Given the description of an element on the screen output the (x, y) to click on. 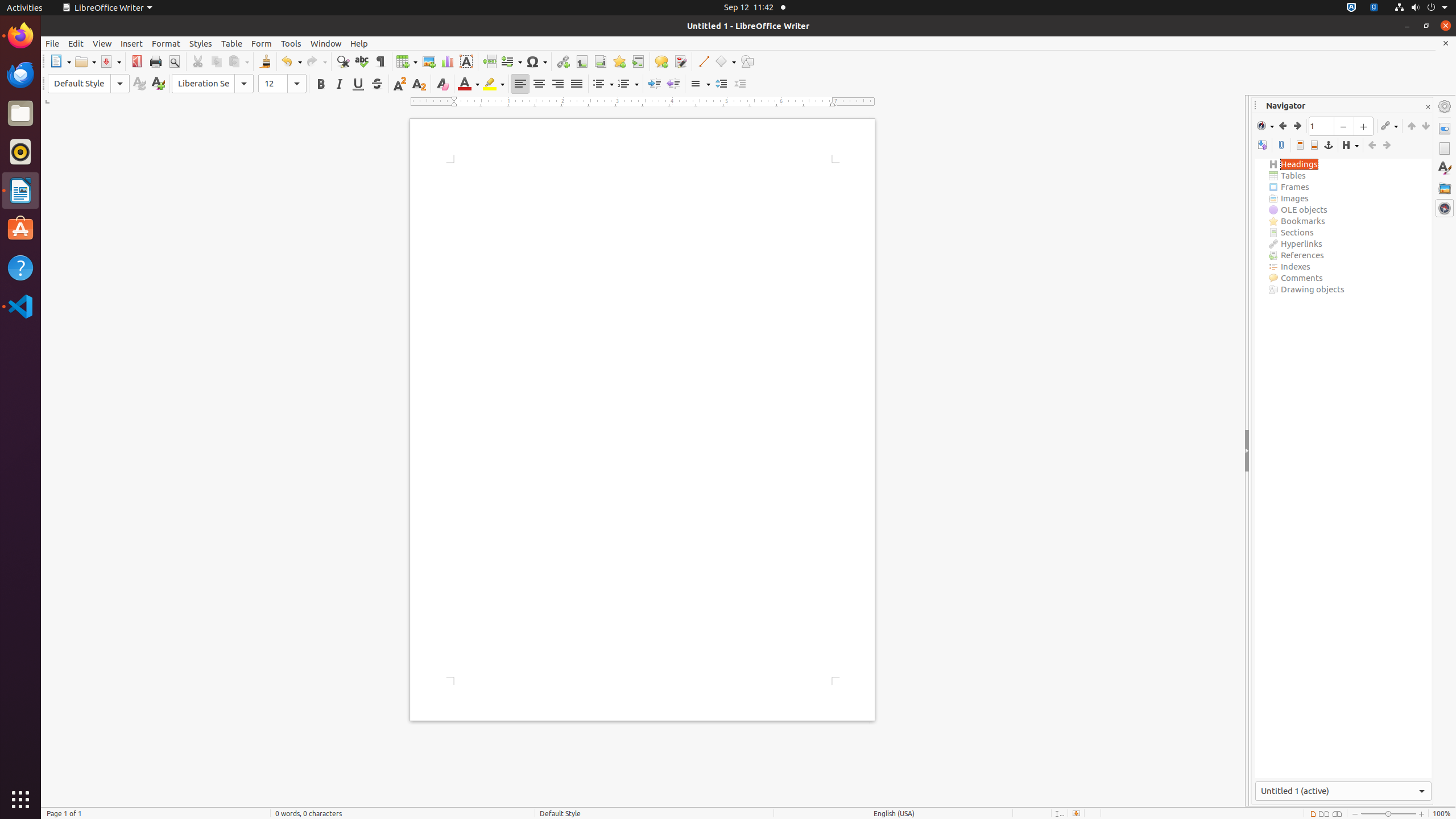
Font Color Element type: push-button (468, 83)
Increase Element type: push-button (721, 83)
Footnote Element type: push-button (581, 61)
Back Element type: push-button (1282, 125)
Numbering Element type: push-button (627, 83)
